Given the description of an element on the screen output the (x, y) to click on. 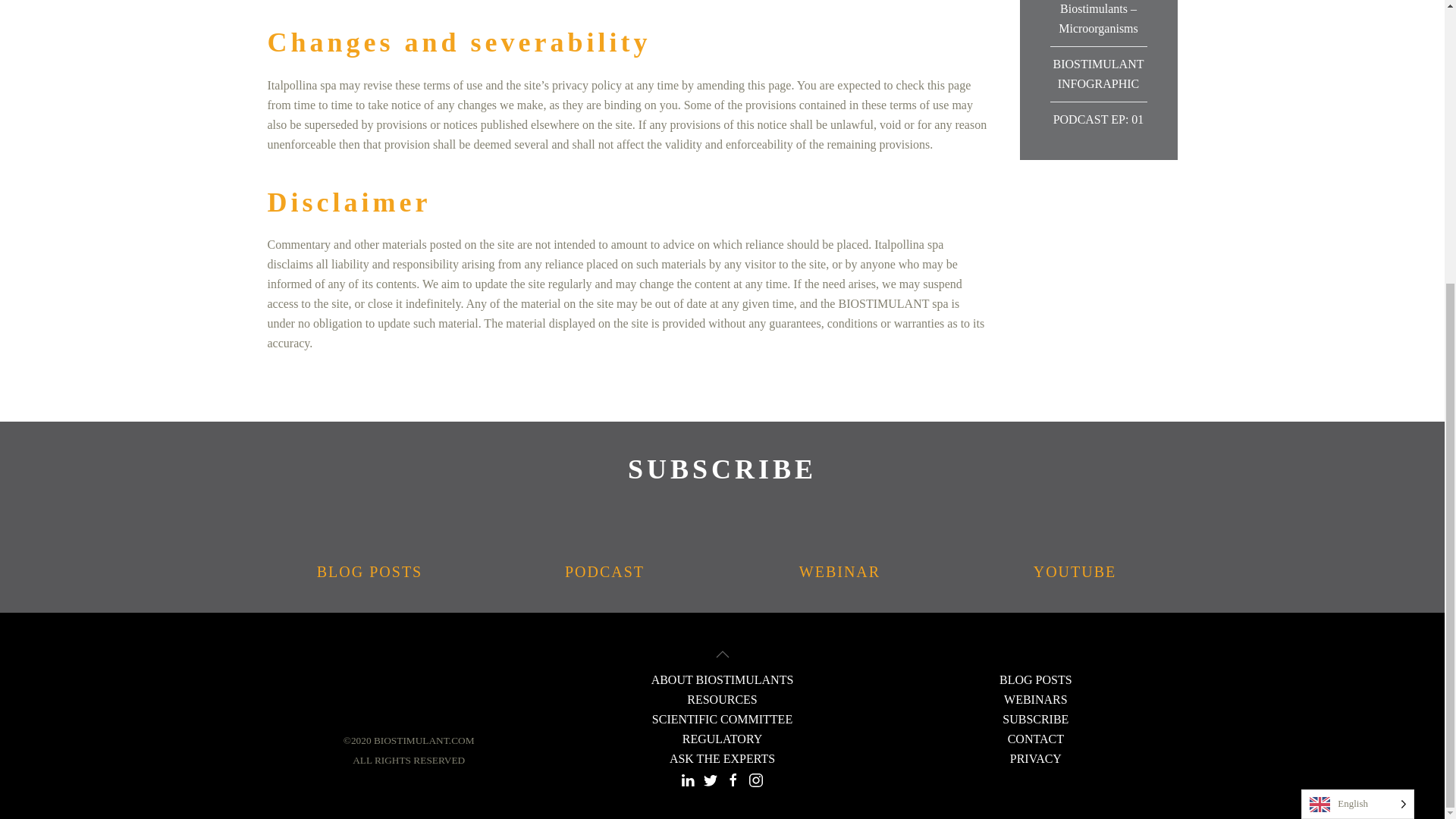
ABOUT BIOSTIMULANTS (721, 679)
BLOG POSTS (1034, 679)
ASK THE EXPERTS (721, 758)
YOUTUBE (1074, 549)
REGULATORY (722, 738)
SCIENTIFIC COMMITTEE (722, 718)
TOP (721, 654)
WEBINARS (1035, 698)
SUBSCRIBE (721, 469)
PRIVACY (1035, 758)
